Given the description of an element on the screen output the (x, y) to click on. 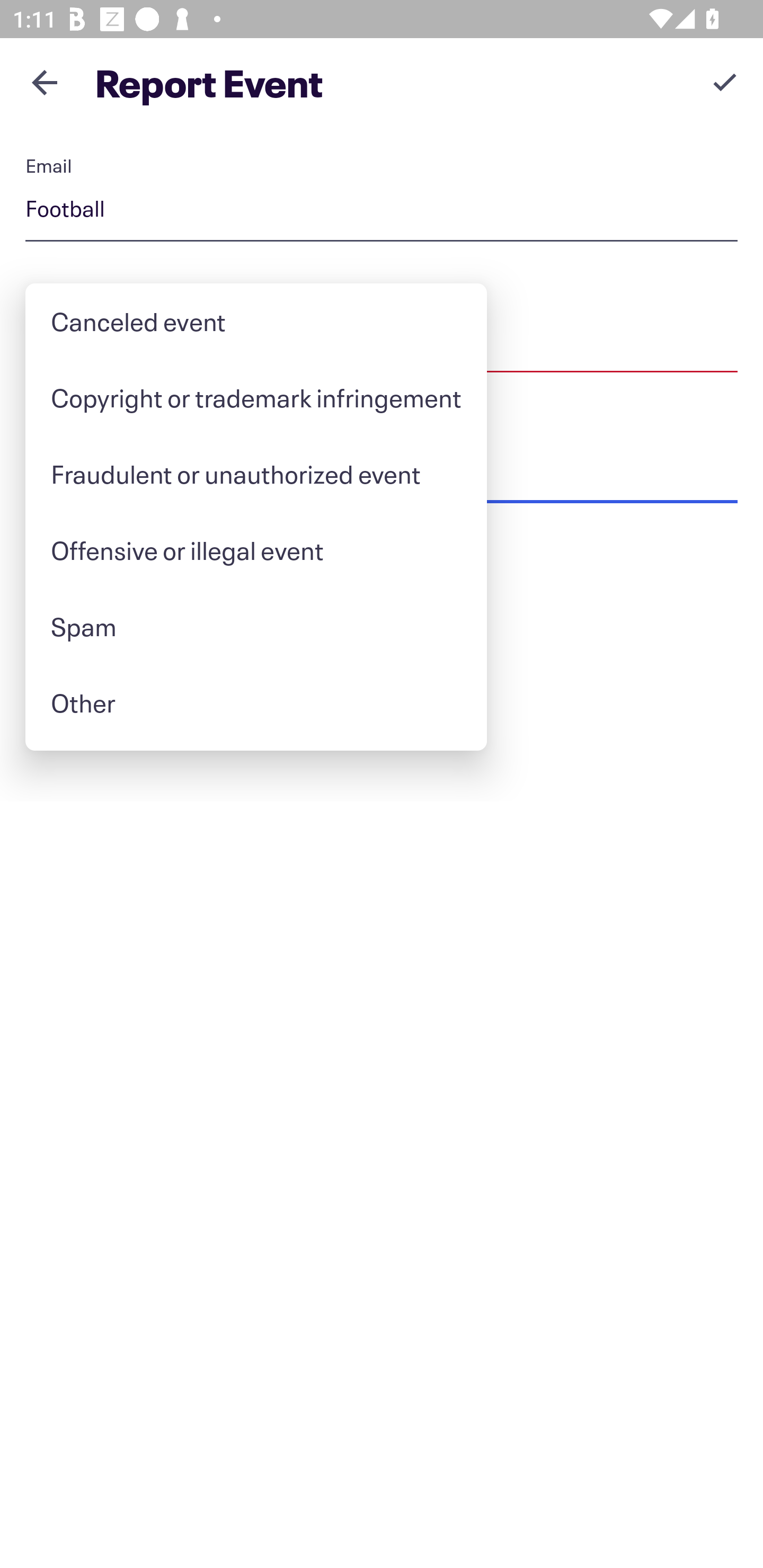
Canceled event (255, 321)
Copyright or trademark infringement (255, 397)
Fraudulent or unauthorized event (255, 473)
Offensive or illegal event (255, 550)
Spam (255, 626)
Other (255, 702)
